Given the description of an element on the screen output the (x, y) to click on. 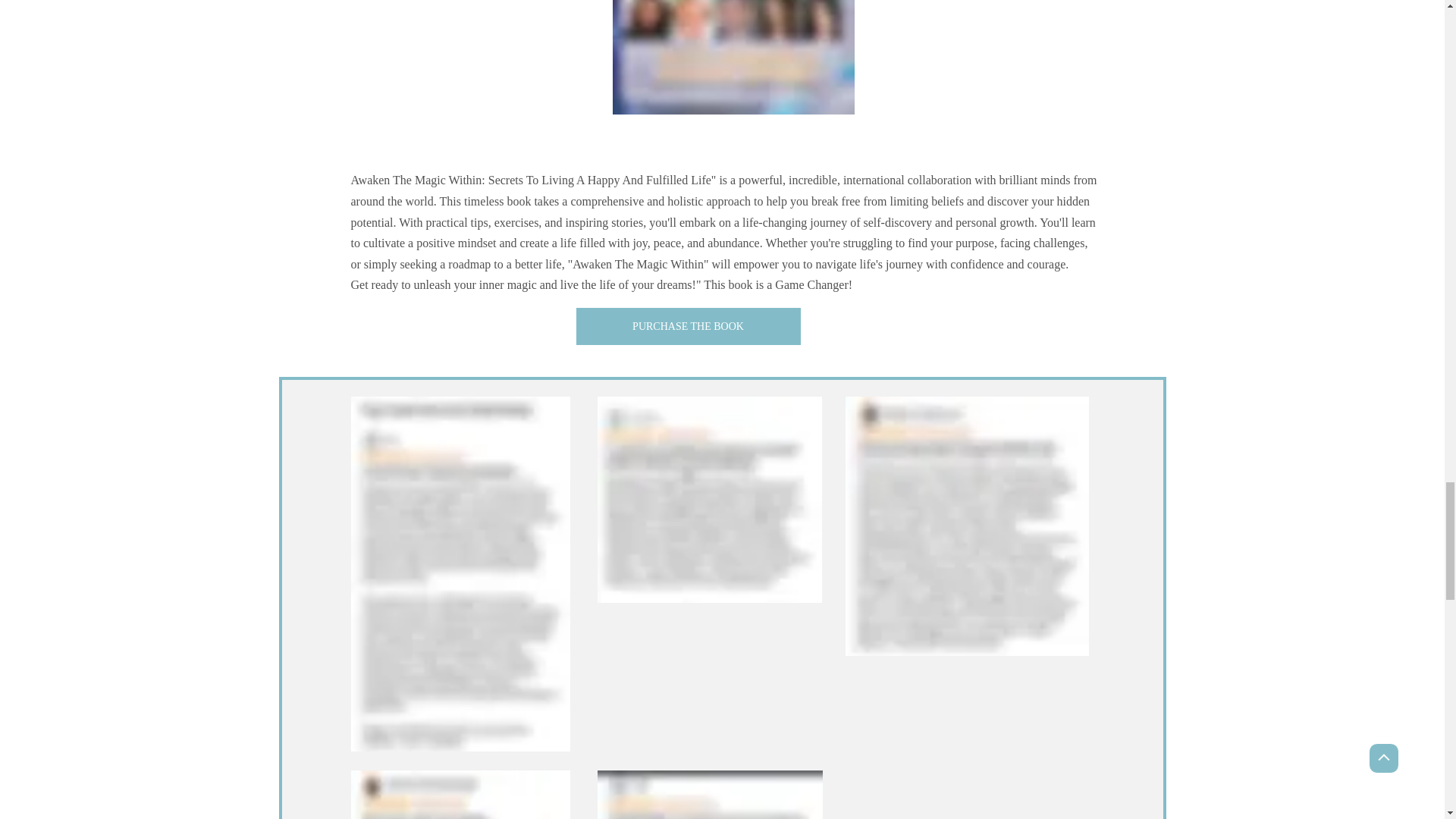
PURCHASE THE BOOK (688, 325)
Review 1.jpg (459, 794)
Review 2.jpg (709, 499)
Review 2.jpg (965, 526)
